Given the description of an element on the screen output the (x, y) to click on. 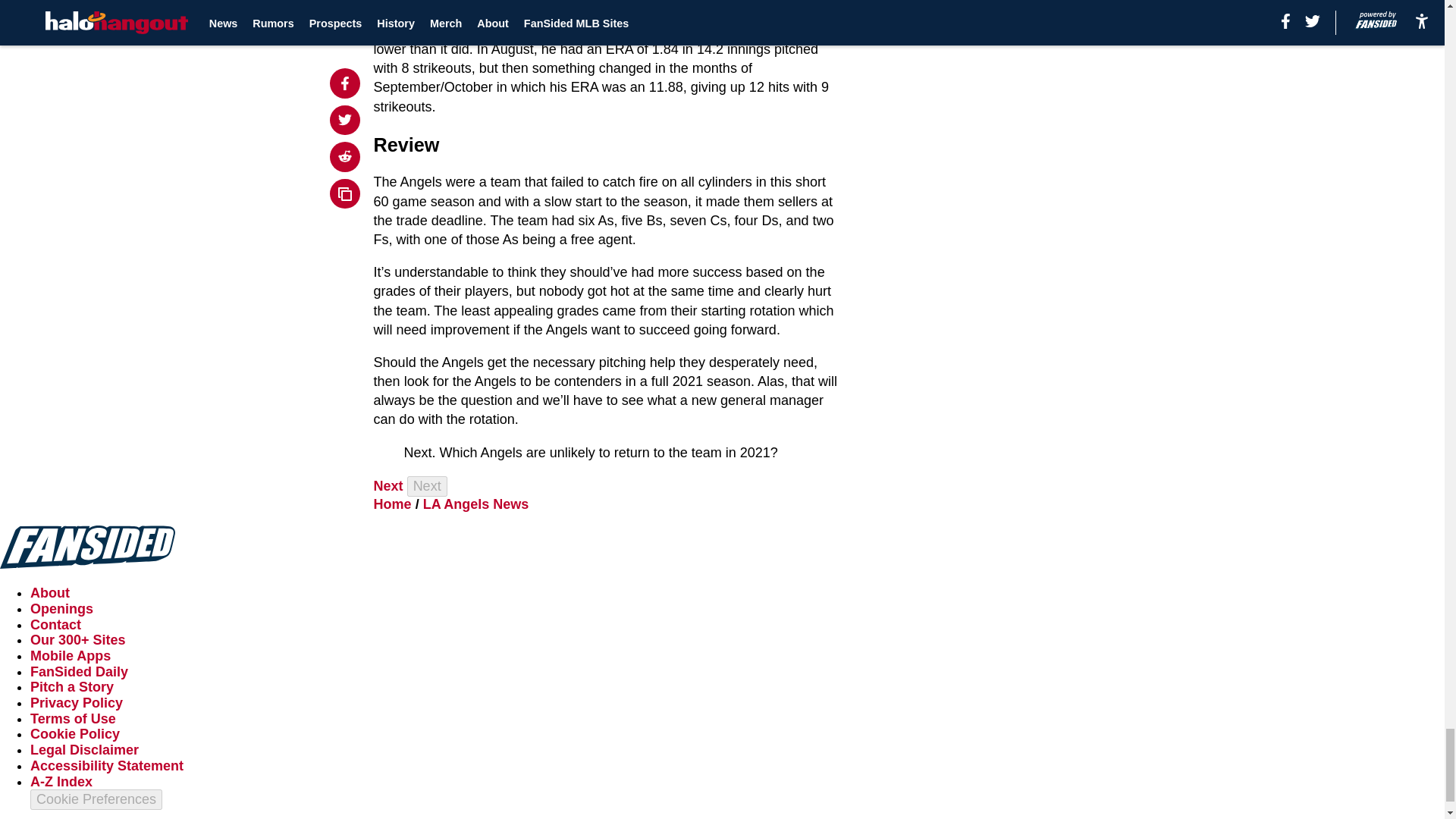
LA Angels News (476, 503)
Home (393, 503)
Next (426, 485)
Next (388, 485)
